Given the description of an element on the screen output the (x, y) to click on. 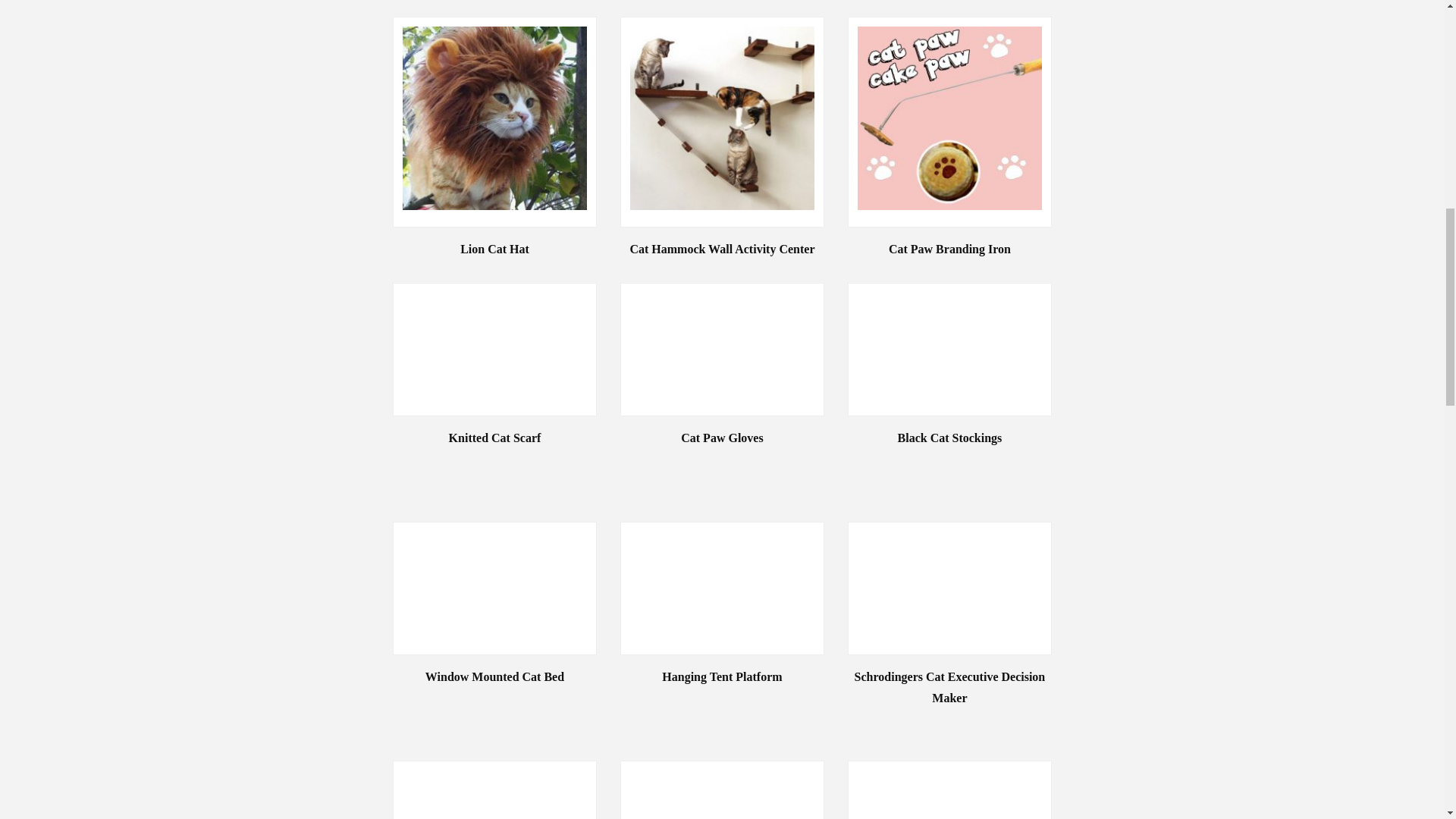
Cat Paw Gloves (722, 437)
Cat Hammock Wall Activity Center (722, 249)
Cat Paw Branding Iron (949, 249)
Schrodingers Cat Executive Decision Maker (949, 687)
Window Mounted Cat Bed (494, 676)
Knitted Cat Scarf (494, 437)
Hanging Tent Platform (722, 676)
Black Cat Stockings (949, 437)
Lion Cat Hat (494, 249)
